Given the description of an element on the screen output the (x, y) to click on. 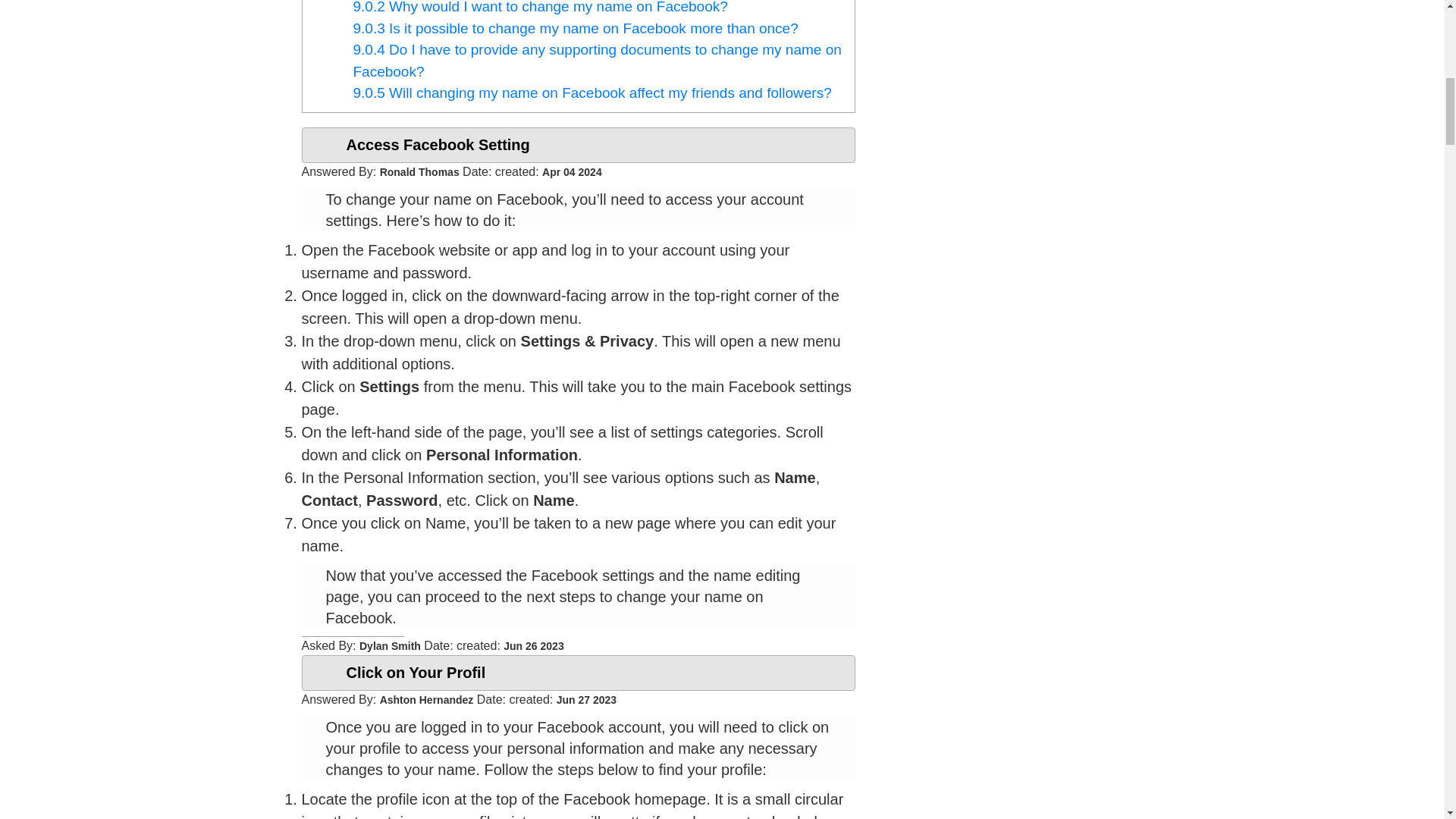
9.0.2 Why would I want to change my name on Facebook? (540, 7)
